Given the description of an element on the screen output the (x, y) to click on. 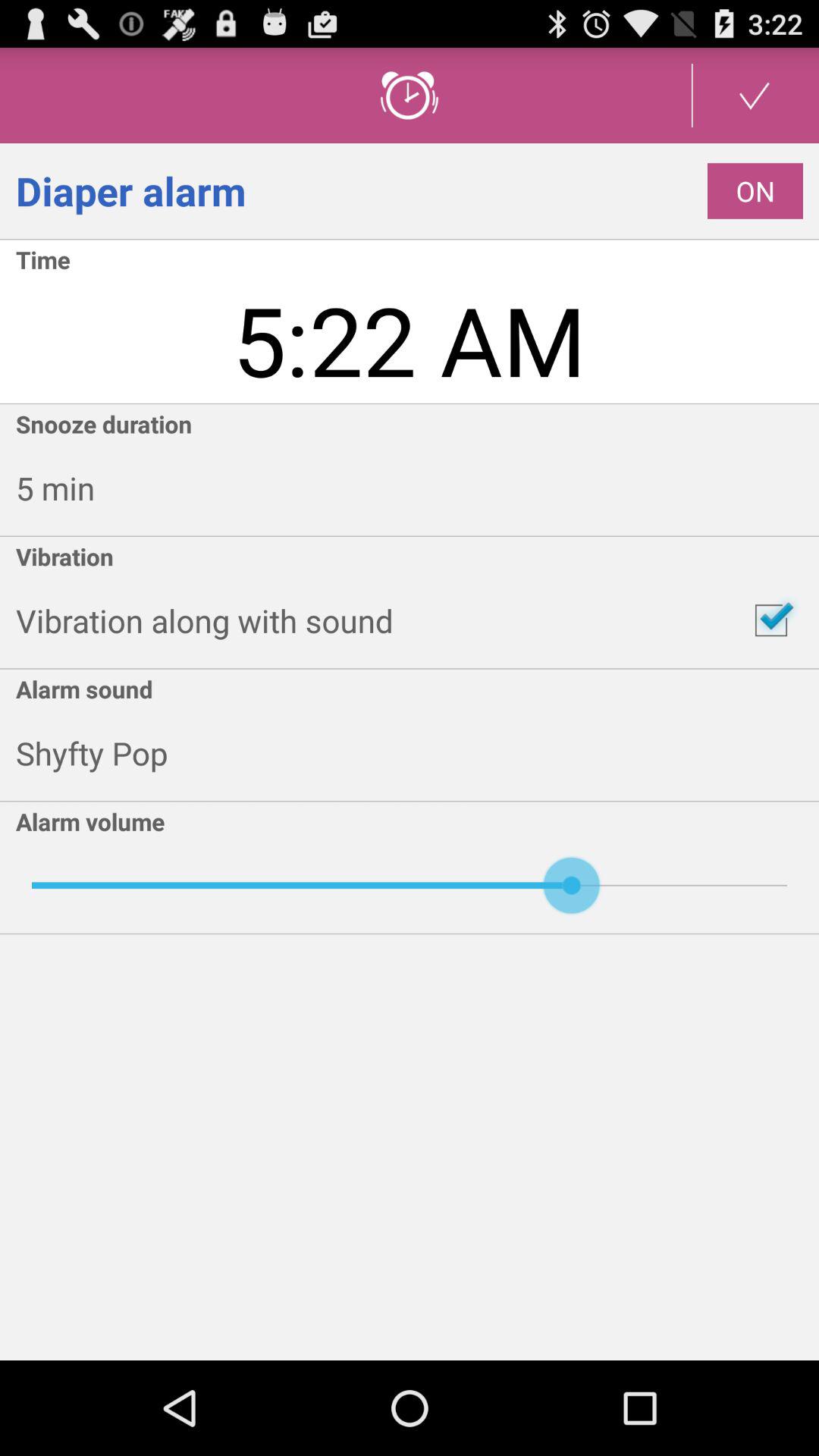
save your setting (755, 95)
